Given the description of an element on the screen output the (x, y) to click on. 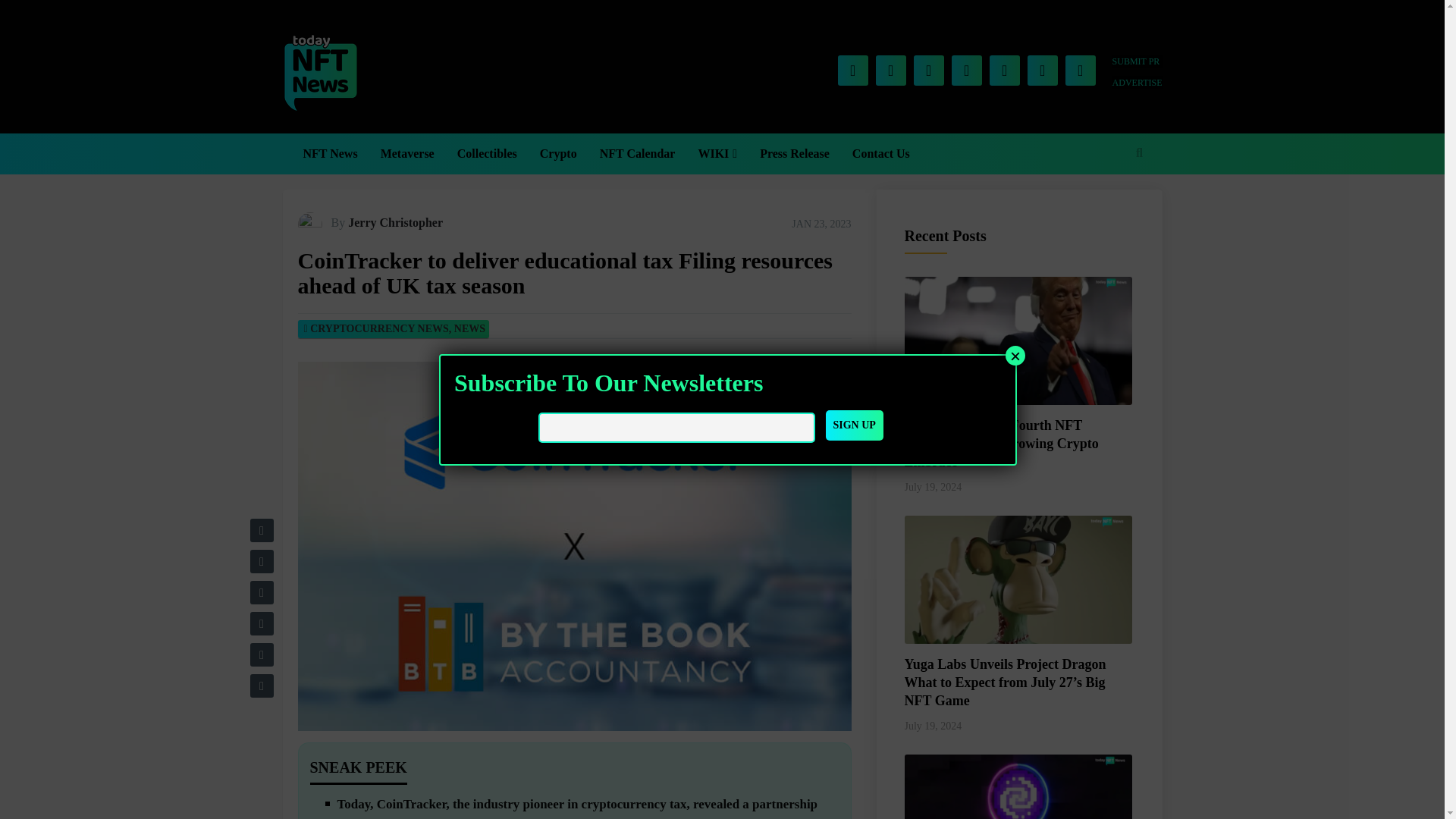
View all posts in Cryptocurrency News (379, 328)
View all posts in News (469, 328)
SUBMIT PR (1136, 60)
Metaverse (407, 153)
Jerry Christopher (394, 222)
Collectibles (486, 153)
NFT News (329, 153)
ADVERTISE (1136, 82)
Posts by Jerry Christopher (394, 222)
Crypto (558, 153)
NEWS (469, 328)
Press Release (794, 153)
Contact Us (881, 153)
NFT Calendar (637, 153)
WIKI (716, 153)
